Given the description of an element on the screen output the (x, y) to click on. 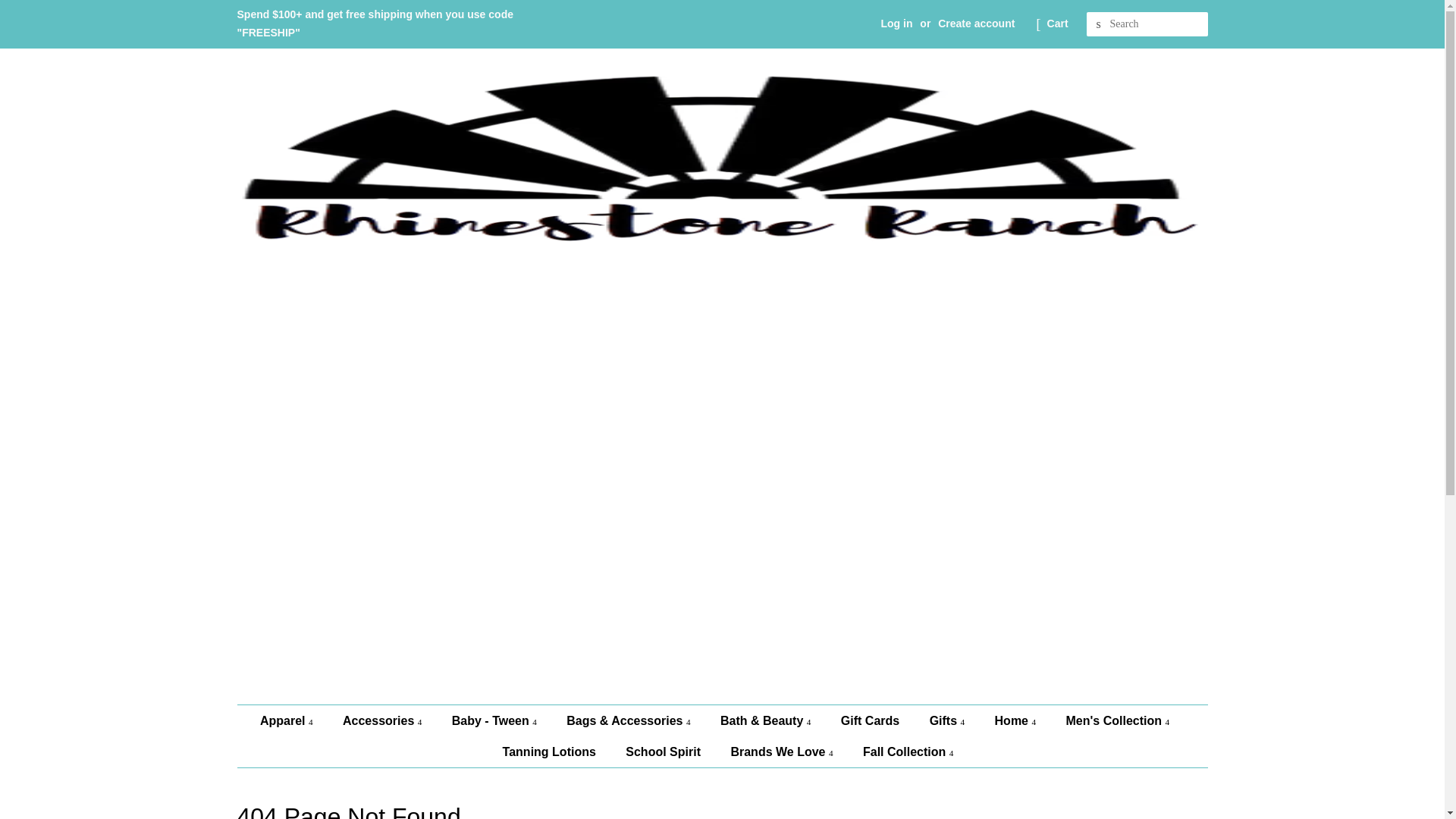
Search (1097, 24)
Create account (975, 23)
Cart (1057, 24)
Log in (896, 23)
